Given the description of an element on the screen output the (x, y) to click on. 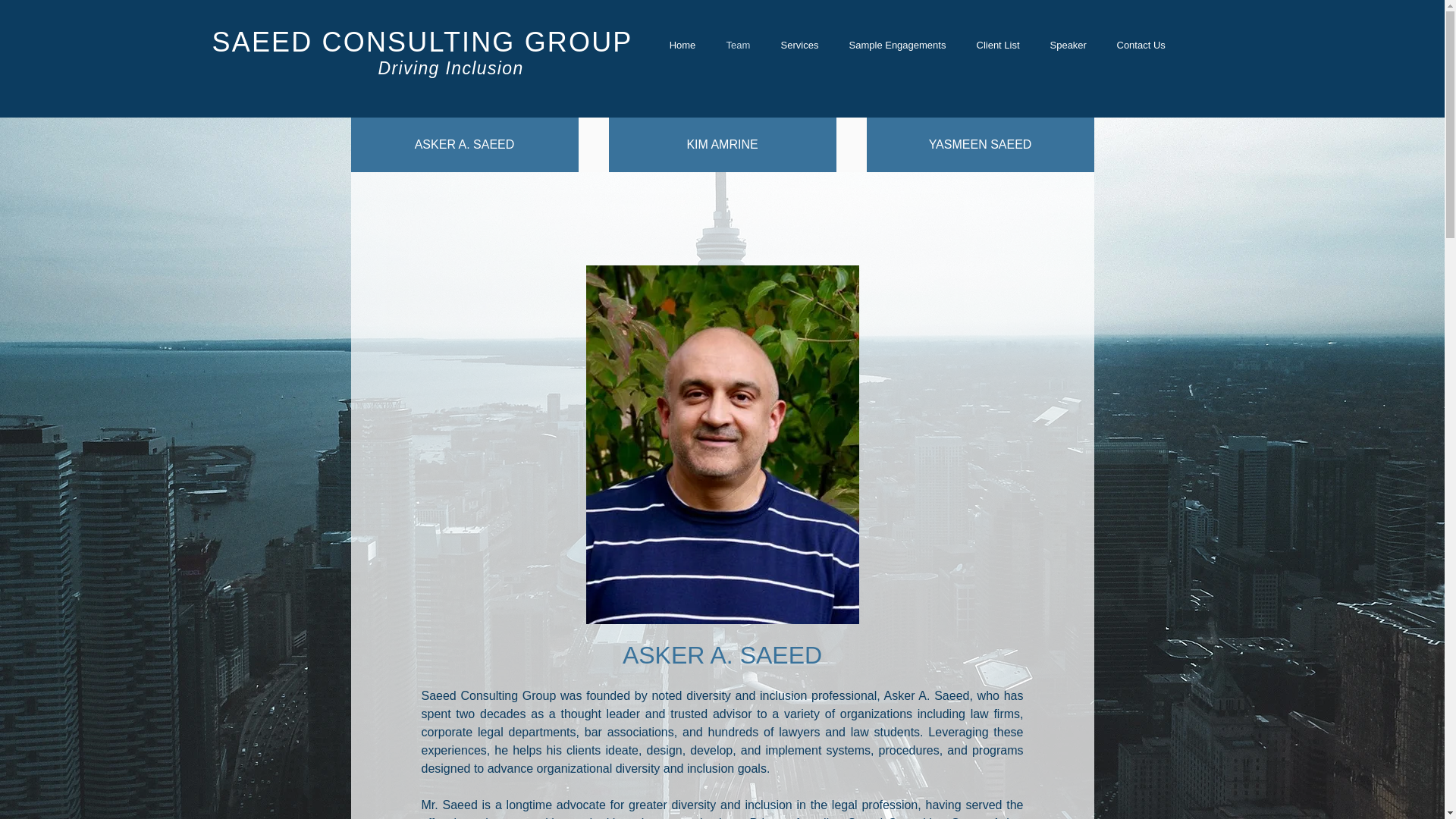
Home (681, 45)
Speaker (1066, 45)
Contact Us (1139, 45)
SAEED CONSULTING GROUP (422, 41)
KIM AMRINE (721, 144)
Client List (997, 45)
ASKER A. SAEED (464, 144)
Services (799, 45)
Sample Engagements (897, 45)
YASMEEN SAEED (979, 144)
Team (738, 45)
